Given the description of an element on the screen output the (x, y) to click on. 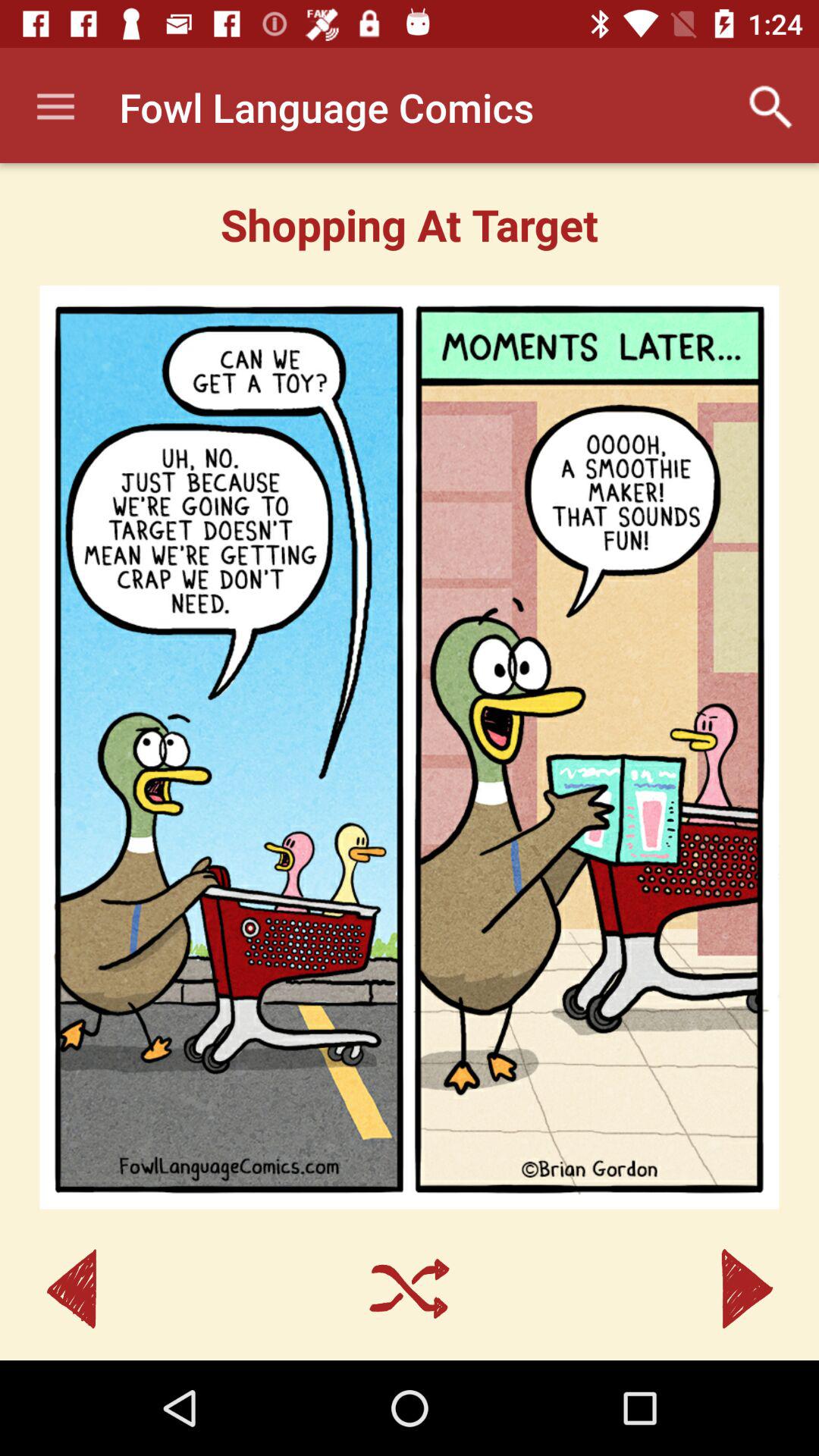
turn off icon to the left of fowl language comics item (55, 107)
